Given the description of an element on the screen output the (x, y) to click on. 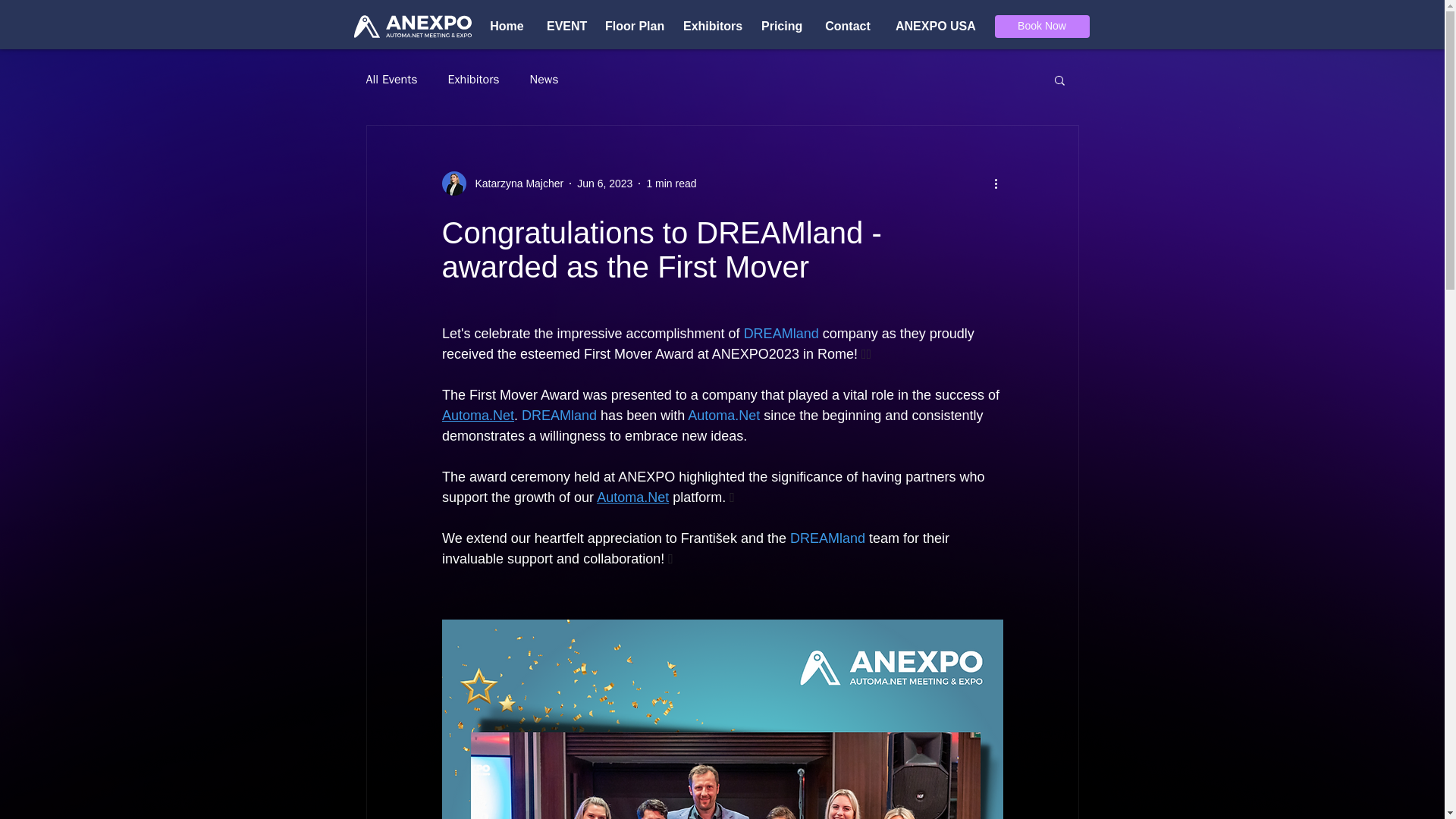
Exhibitors (710, 26)
Exhibitors (473, 78)
News (544, 78)
Floor Plan (632, 26)
1 min read (670, 183)
Automa.Net (723, 415)
Jun 6, 2023 (603, 183)
Home (507, 26)
All Events (390, 78)
Contact (846, 26)
